Given the description of an element on the screen output the (x, y) to click on. 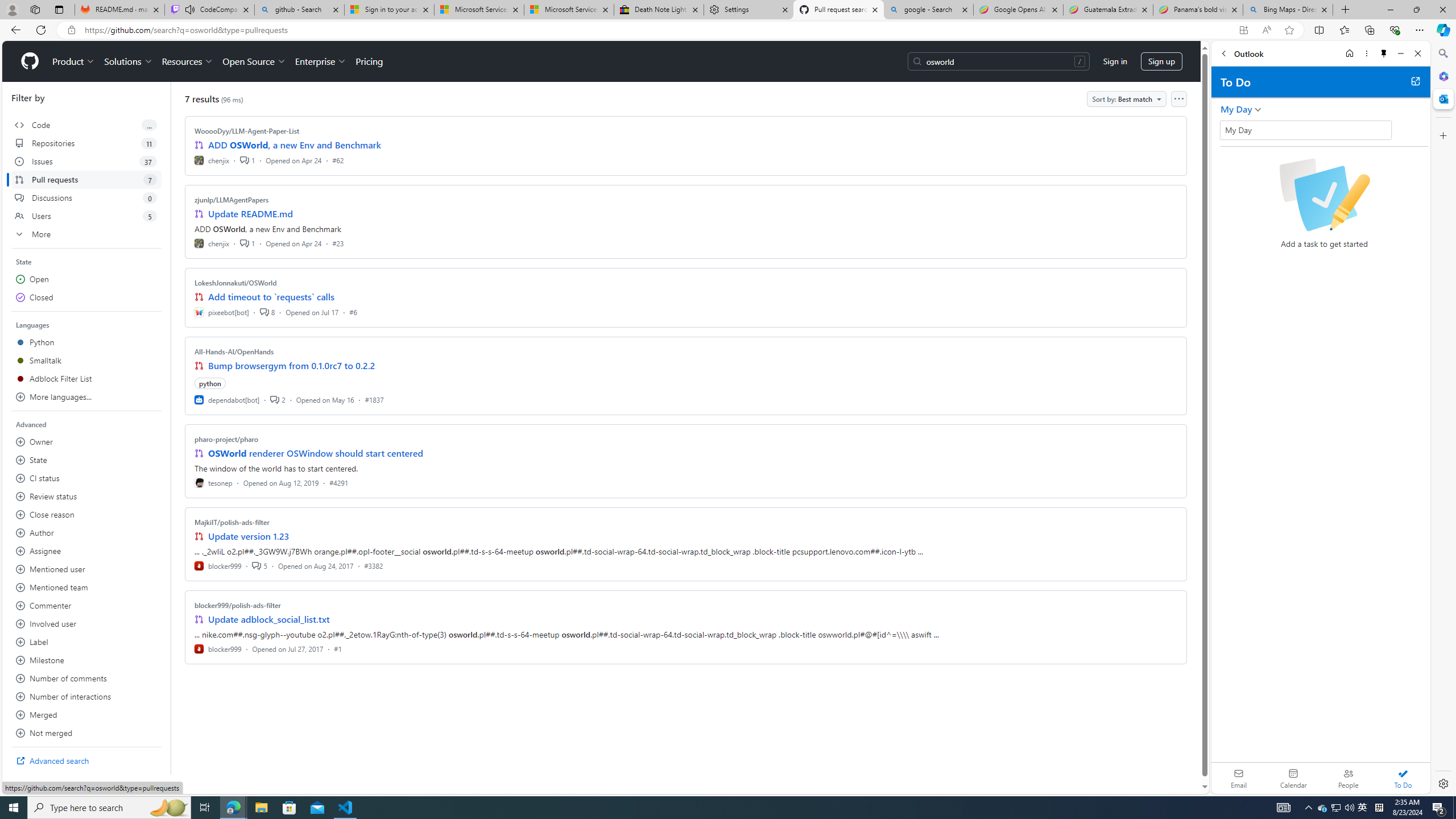
#6 (352, 311)
github - Search (298, 9)
tesonep (213, 482)
Advanced search (86, 760)
#4291 (338, 482)
#1 (337, 648)
google - Search (928, 9)
Open in new tab (1414, 80)
